Given the description of an element on the screen output the (x, y) to click on. 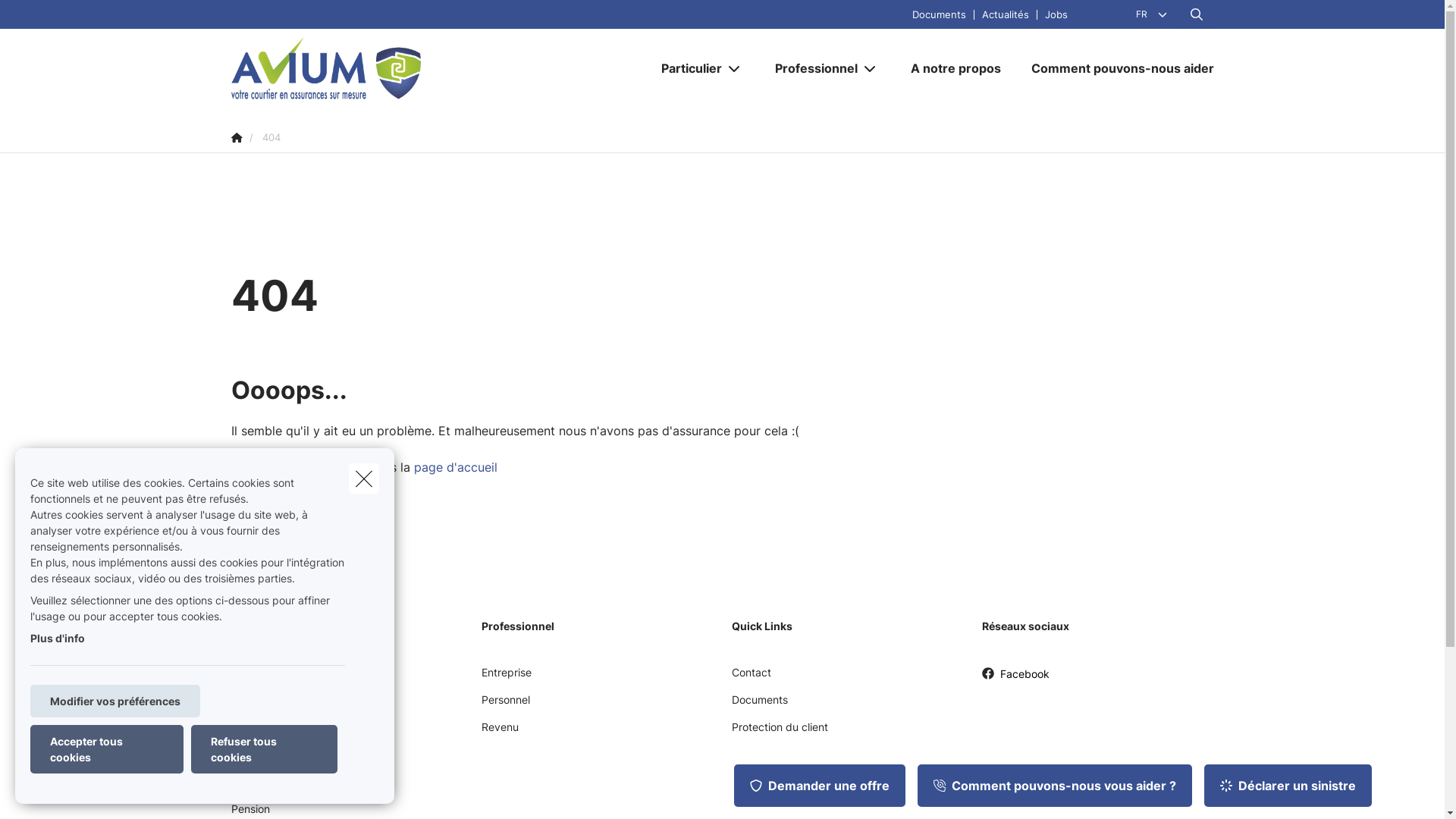
Entreprise Element type: text (505, 677)
Comment pouvons-nous aider Element type: text (1115, 67)
Contact Element type: text (750, 677)
Accepter tous cookies Element type: text (106, 748)
Documents Element type: text (937, 13)
Documents Element type: text (759, 704)
Demander une offre Element type: text (819, 785)
Facebook Element type: text (1014, 678)
Revenu Element type: text (498, 732)
Protection du client Element type: text (779, 732)
Habitation Element type: text (255, 704)
Famille et protection juridique Element type: text (303, 732)
Professionnel Element type: text (810, 67)
Hospitalisation Element type: text (266, 759)
page d'accueil Element type: text (455, 466)
Particulier Element type: text (685, 67)
A notre propos Element type: text (954, 67)
Jobs Element type: text (1054, 13)
Personnel Element type: text (504, 704)
Comment pouvons-nous vous aider ? Element type: text (1054, 785)
Refuser tous cookies Element type: text (264, 748)
Plus d'info Element type: text (57, 637)
Rechercher Element type: text (54, 18)
